Given the description of an element on the screen output the (x, y) to click on. 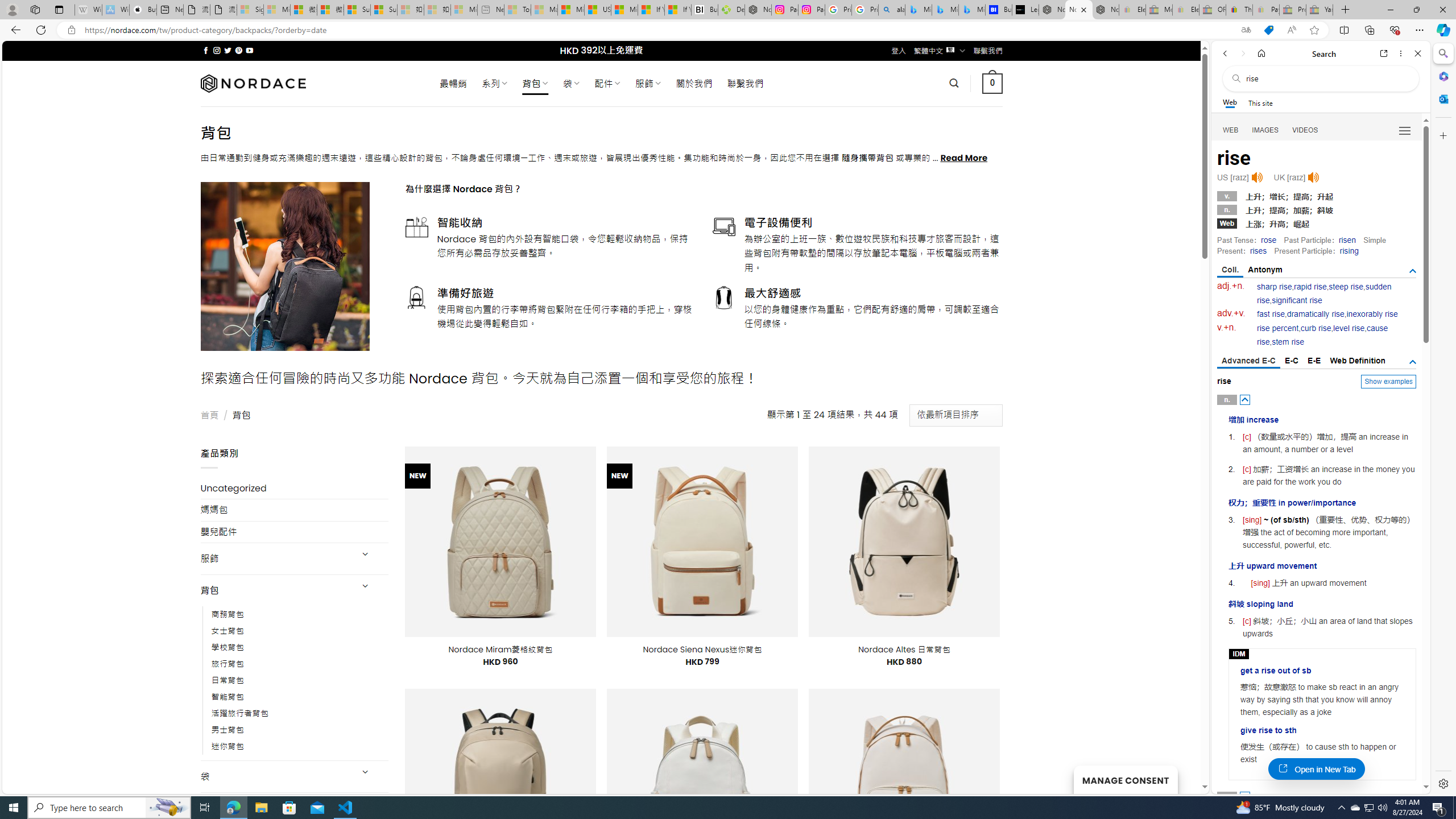
steep rise (1345, 286)
rise percent (1277, 328)
US Heat Deaths Soared To Record High Last Year (597, 9)
inexorably rise (1371, 313)
 0  (992, 83)
Open link in new tab (1383, 53)
Follow on Pinterest (237, 50)
